Given the description of an element on the screen output the (x, y) to click on. 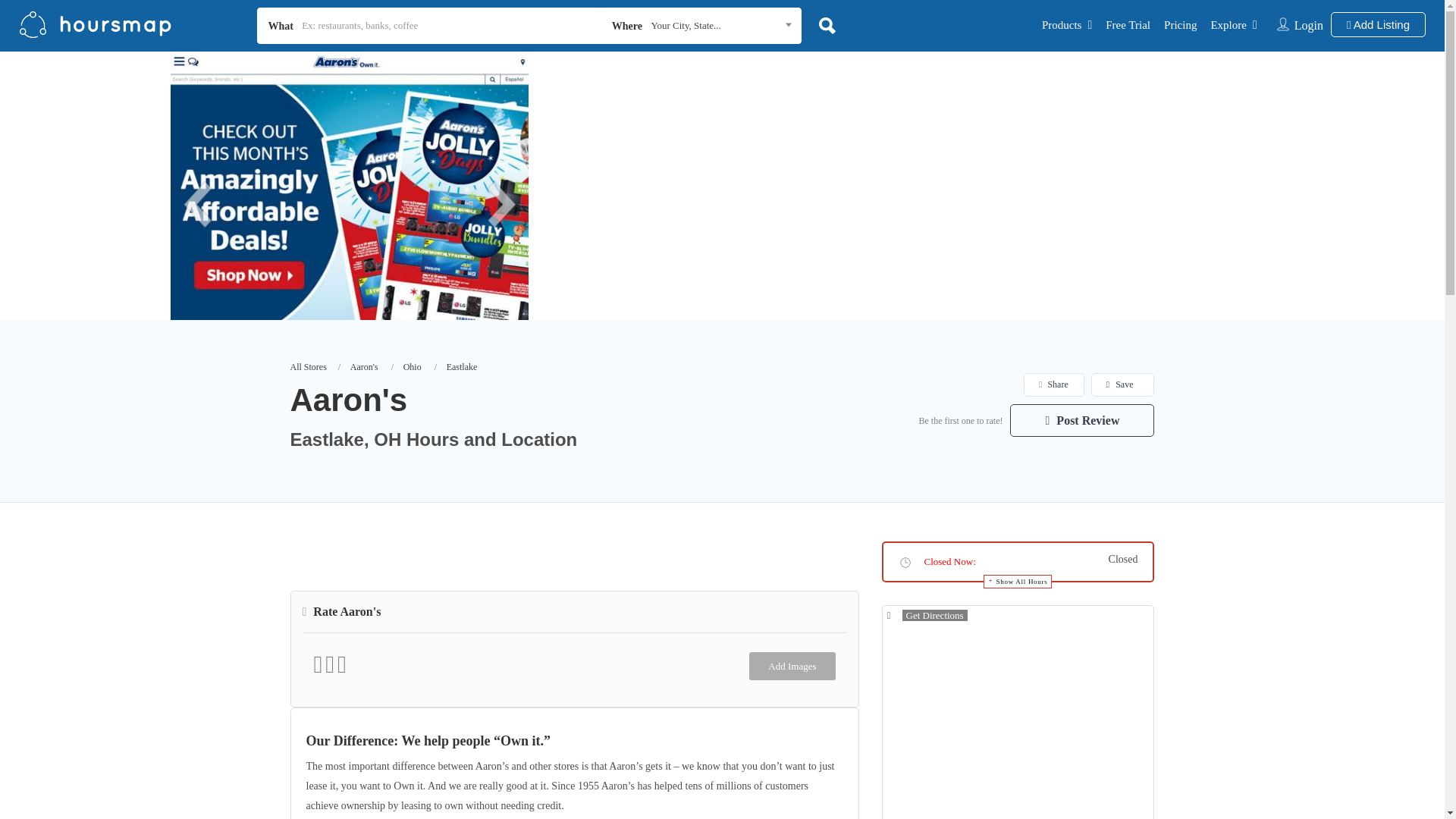
Your City, State... (722, 25)
